Given the description of an element on the screen output the (x, y) to click on. 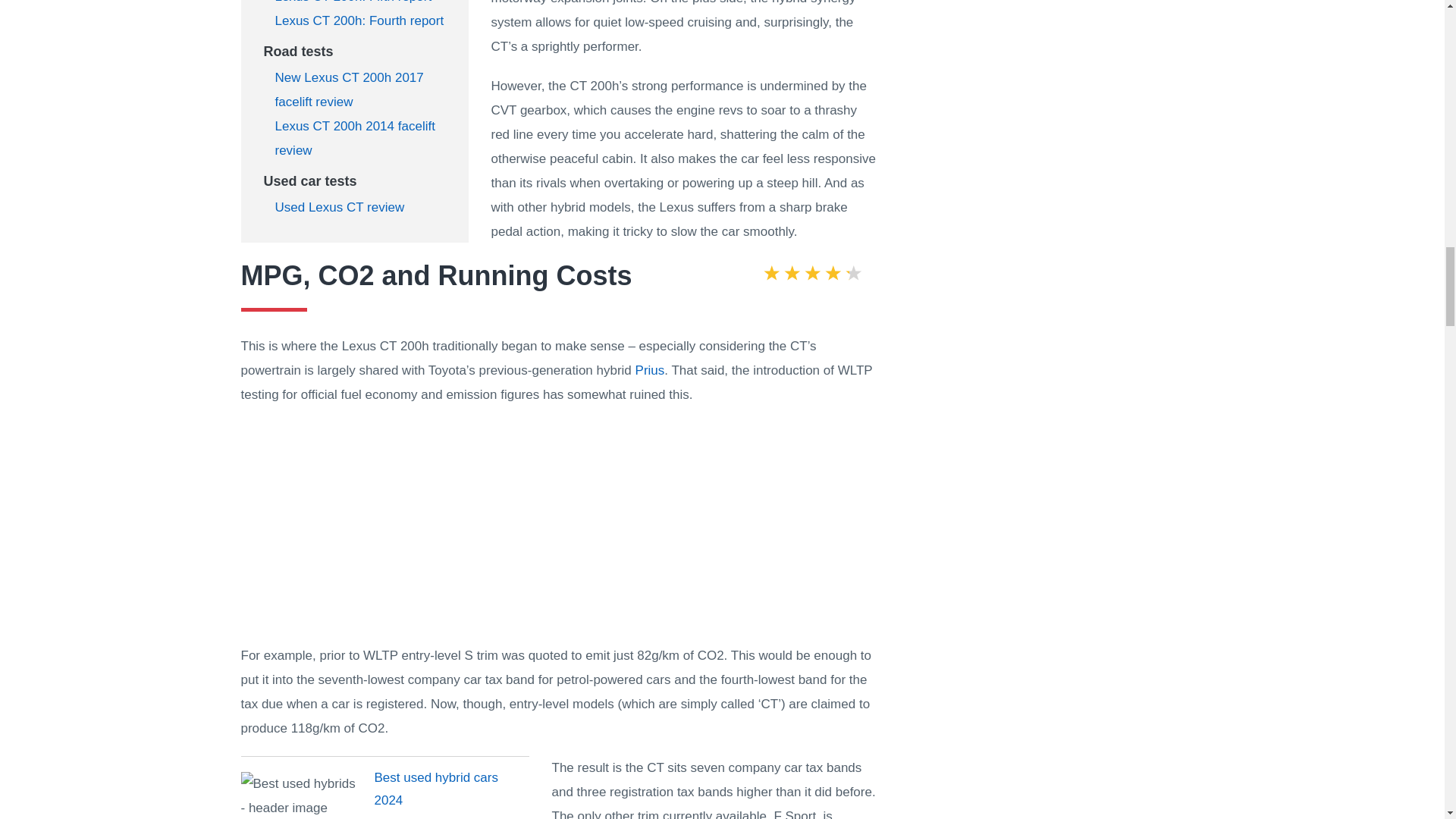
4.2 Stars (811, 275)
